Given the description of an element on the screen output the (x, y) to click on. 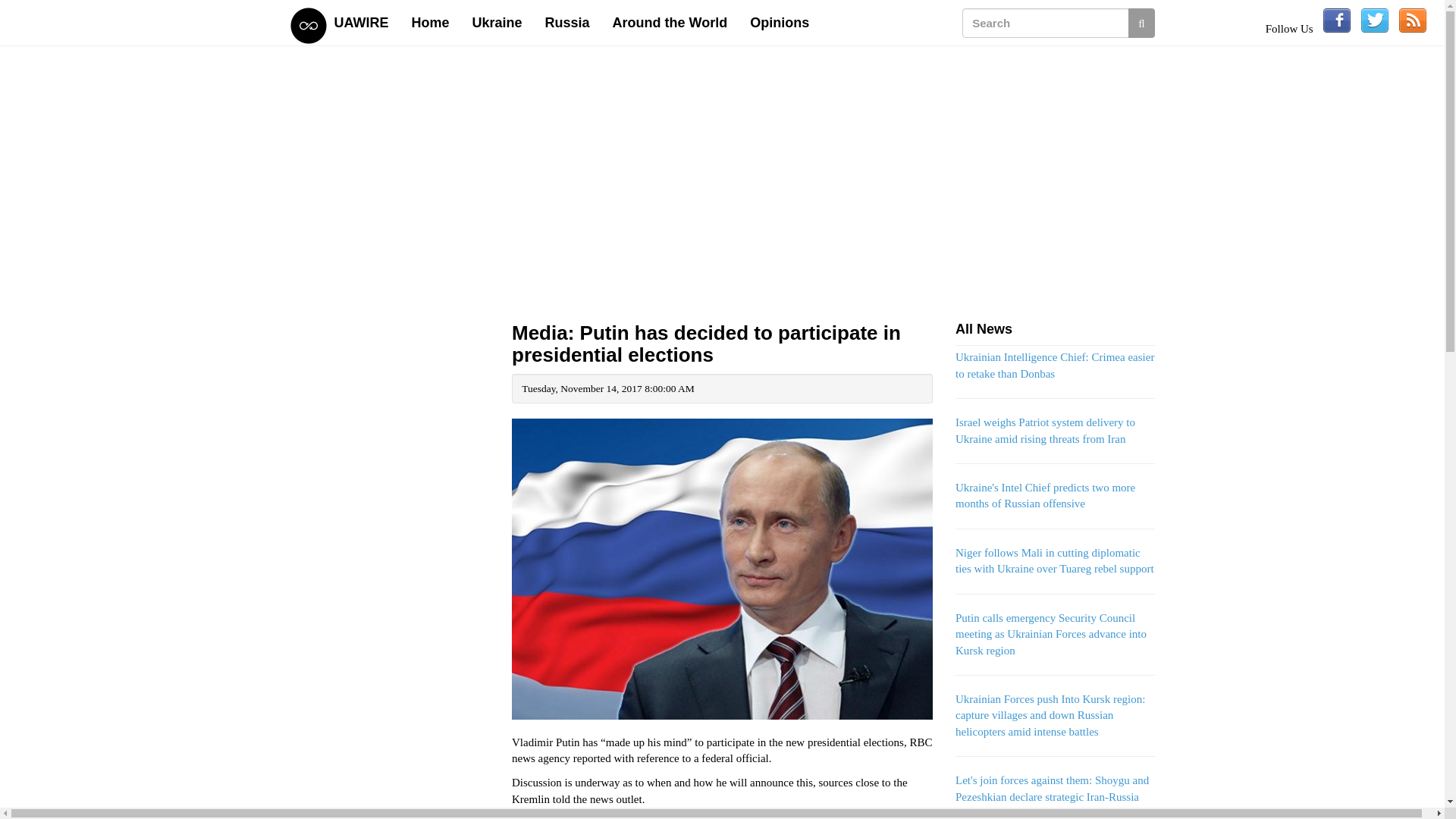
Ukraine (497, 22)
Follow us on Twitter (1375, 20)
Russia (567, 22)
Home (430, 22)
Follow us on Facebook (1337, 20)
Advertisement (389, 790)
UAWIRE (361, 22)
